Given the description of an element on the screen output the (x, y) to click on. 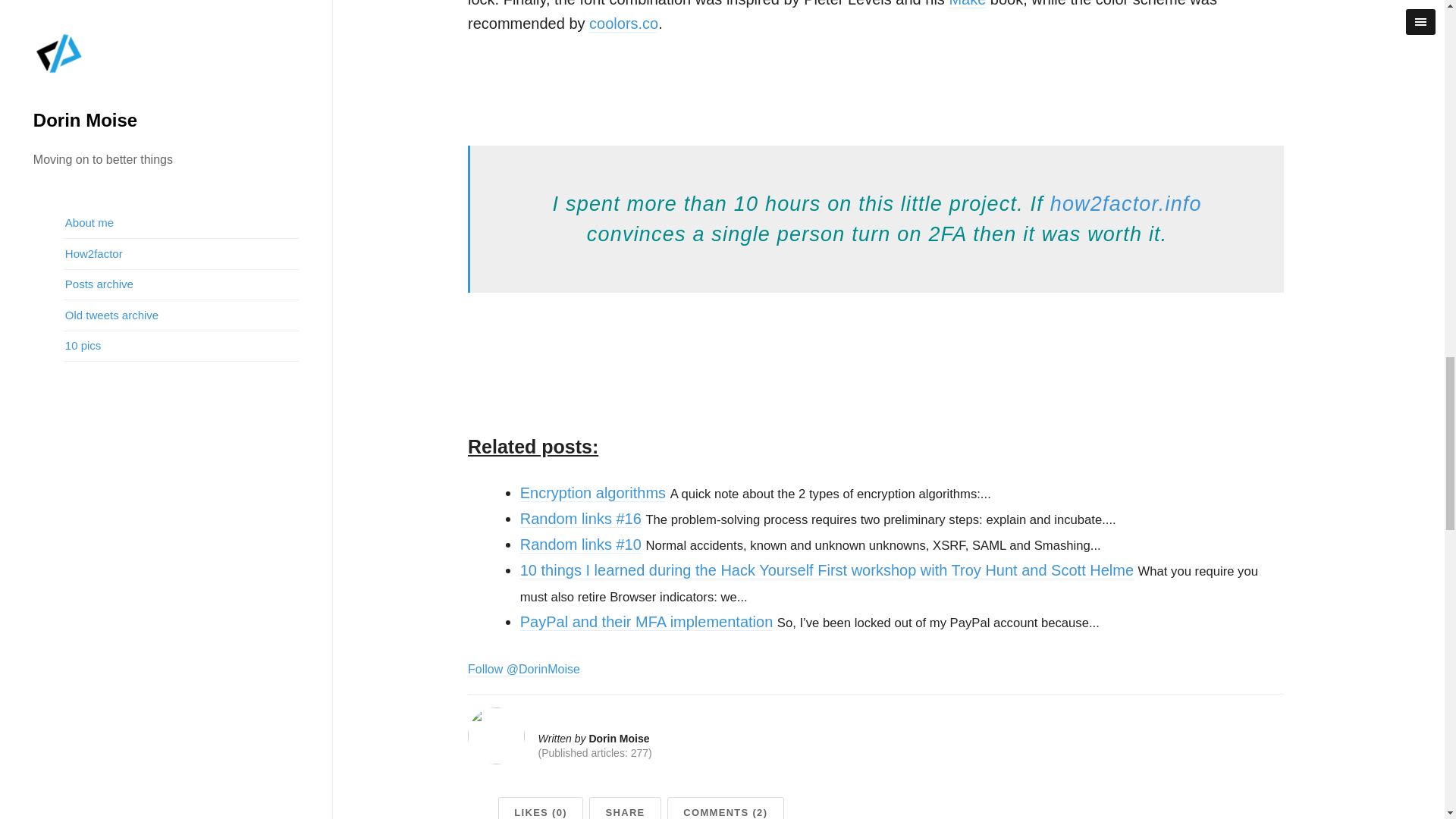
Make (967, 4)
Encryption algorithms (592, 493)
PayPal and their MFA implementation (646, 621)
PayPal and their MFA implementation (646, 621)
Encryption algorithms (592, 493)
how2factor.info (1125, 203)
coolors.co (623, 23)
